Given the description of an element on the screen output the (x, y) to click on. 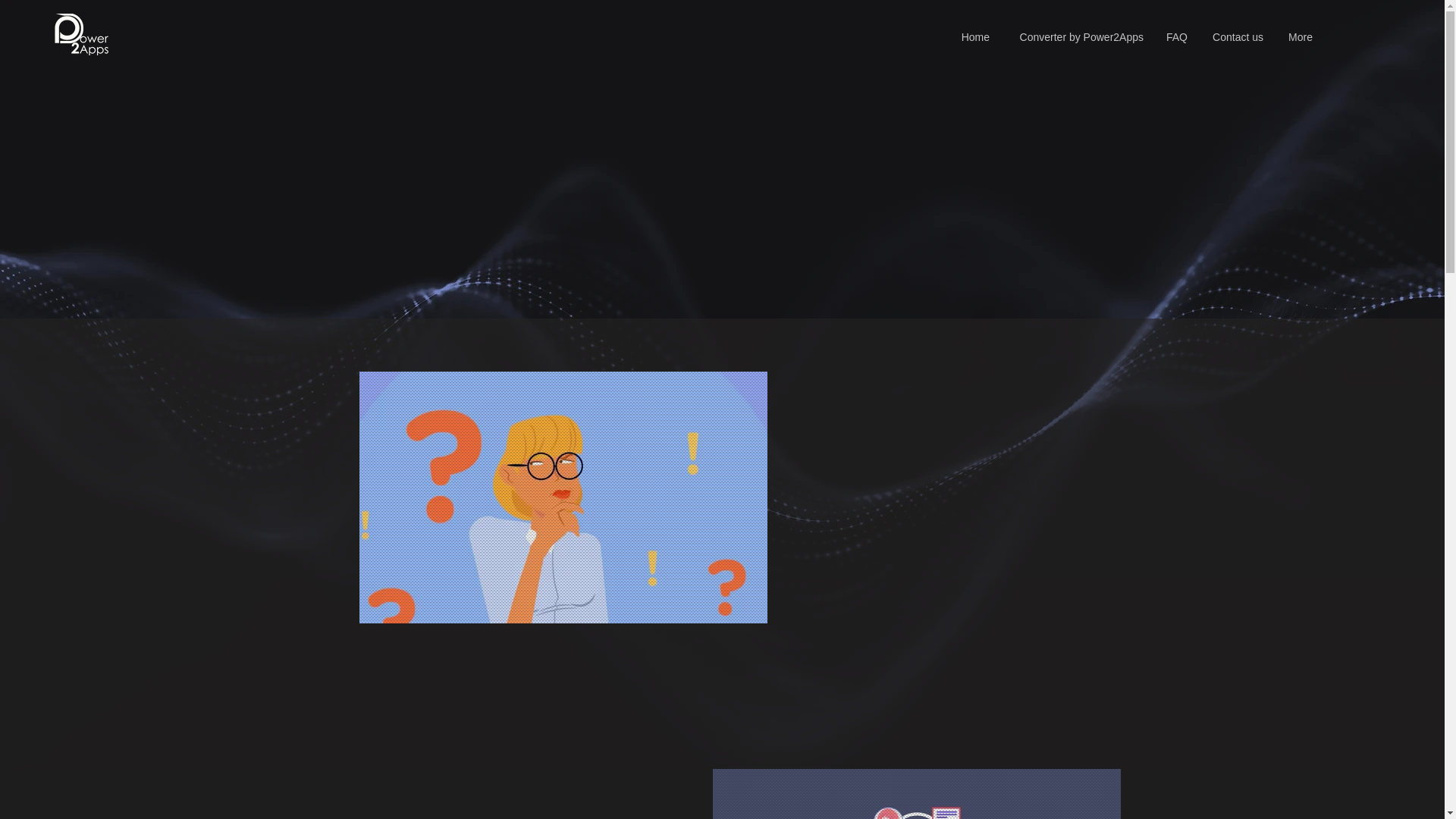
Home (975, 37)
Contact us (1236, 37)
Converter by Power2Apps (1077, 37)
FAQ (1176, 37)
